Given the description of an element on the screen output the (x, y) to click on. 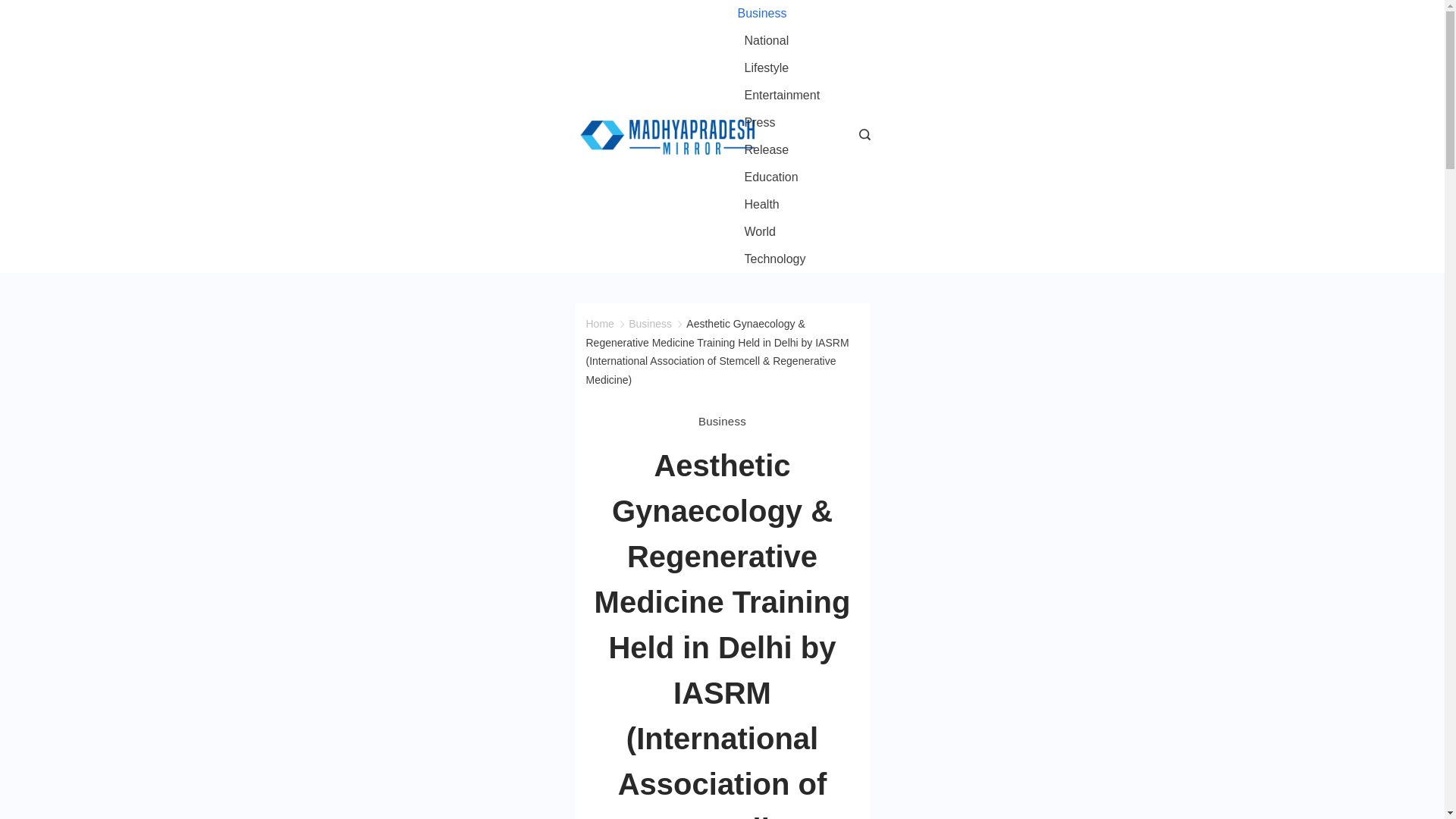
Business (721, 421)
Technology (770, 258)
Home (598, 323)
Education (770, 176)
Entertainment (781, 94)
Health (761, 204)
World (759, 231)
Press Release (782, 135)
Business (764, 13)
Business (649, 323)
